Given the description of an element on the screen output the (x, y) to click on. 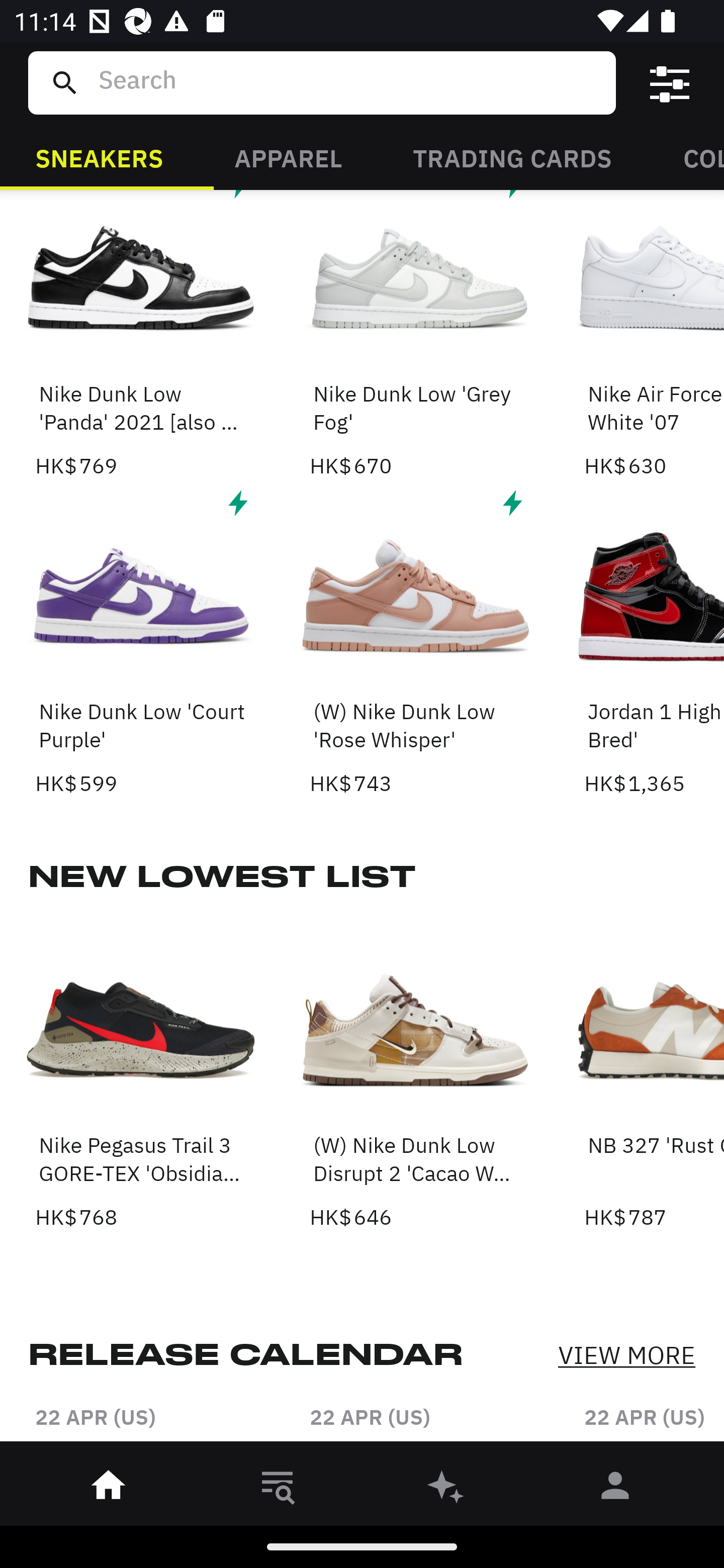
Search (349, 82)
 (669, 82)
SNEAKERS (99, 156)
APPAREL (287, 156)
TRADING CARDS (512, 156)
 Nike Dunk Low 'Grey Fog' HK$ 670 (414, 335)
Nike Air Force 1 Low White '07 HK$ 630 (654, 335)
 Nike Dunk Low 'Court Purple' HK$ 599 (140, 640)
 (W) Nike Dunk Low 'Rose Whisper' HK$ 743 (414, 640)
Jordan 1 High 'Patent Bred' HK$ 1,365 (654, 640)
NB 327 'Rust Oxide' HK$ 787 (654, 1074)
VIEW MORE (626, 1354)
22 APR (US) (140, 1423)
22 APR (US) (414, 1423)
22 APR (US) (654, 1423)
󰋜 (108, 1488)
󱎸 (277, 1488)
󰫢 (446, 1488)
󰀄 (615, 1488)
